Given the description of an element on the screen output the (x, y) to click on. 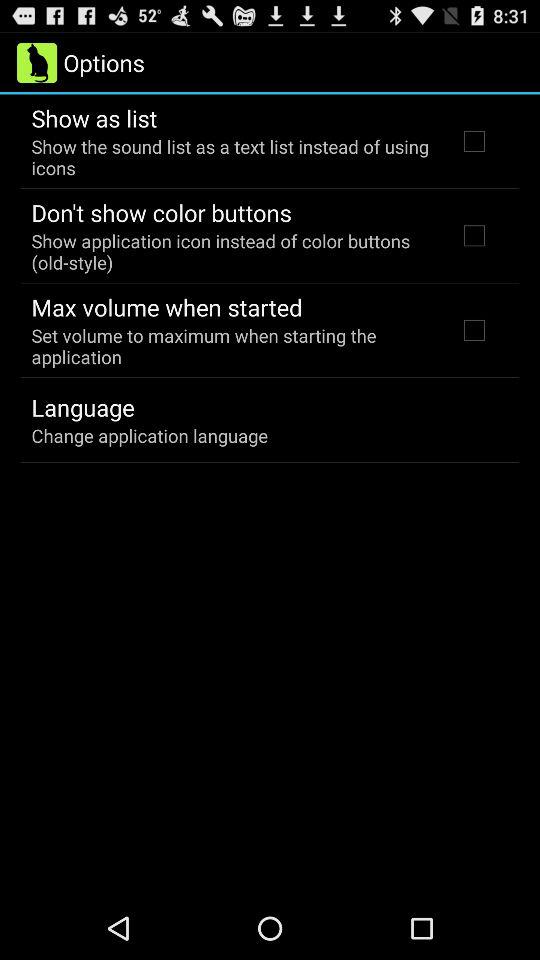
select show application icon (231, 251)
